Given the description of an element on the screen output the (x, y) to click on. 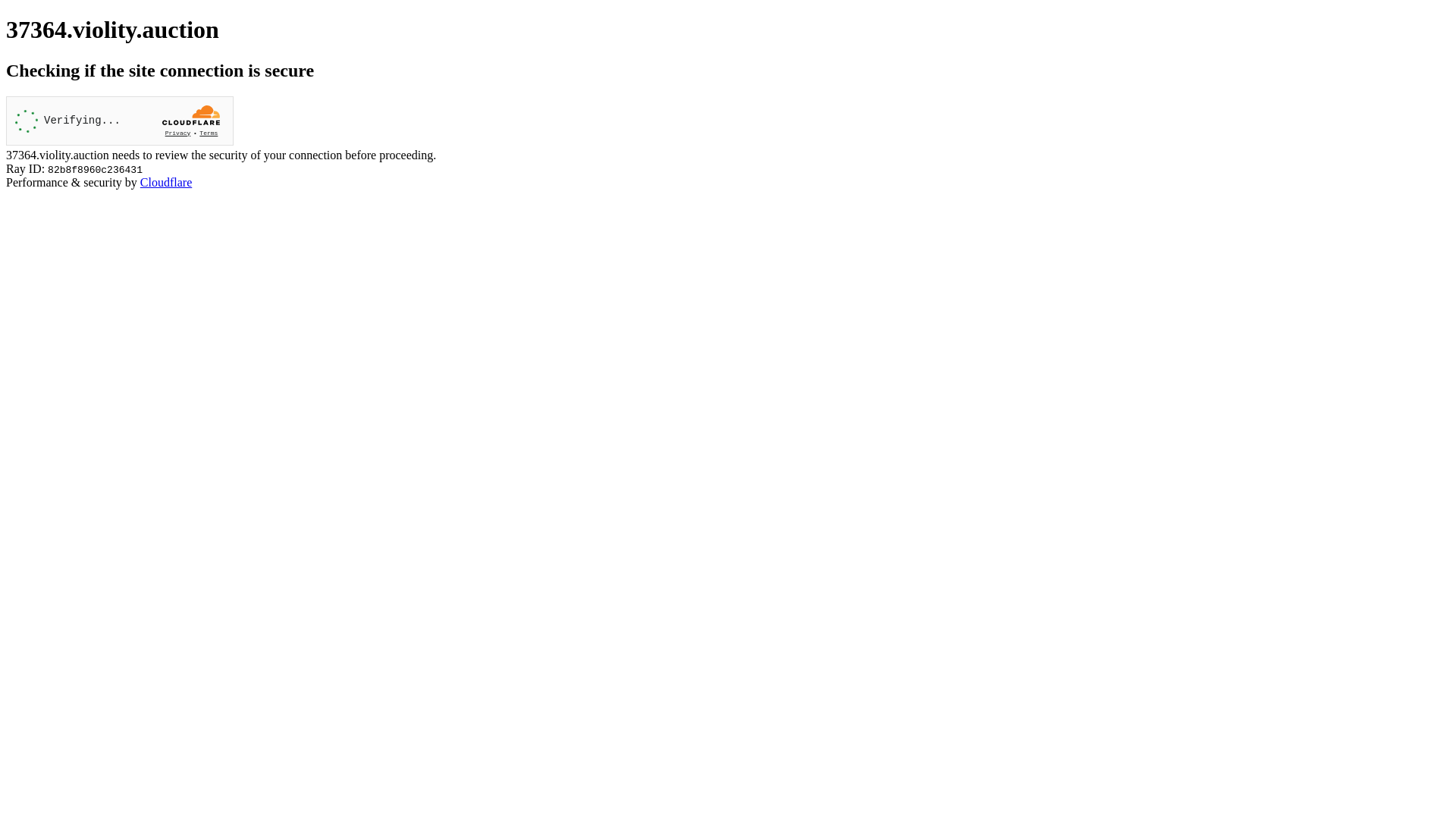
Widget containing a Cloudflare security challenge Element type: hover (119, 120)
Cloudflare Element type: text (165, 181)
